Given the description of an element on the screen output the (x, y) to click on. 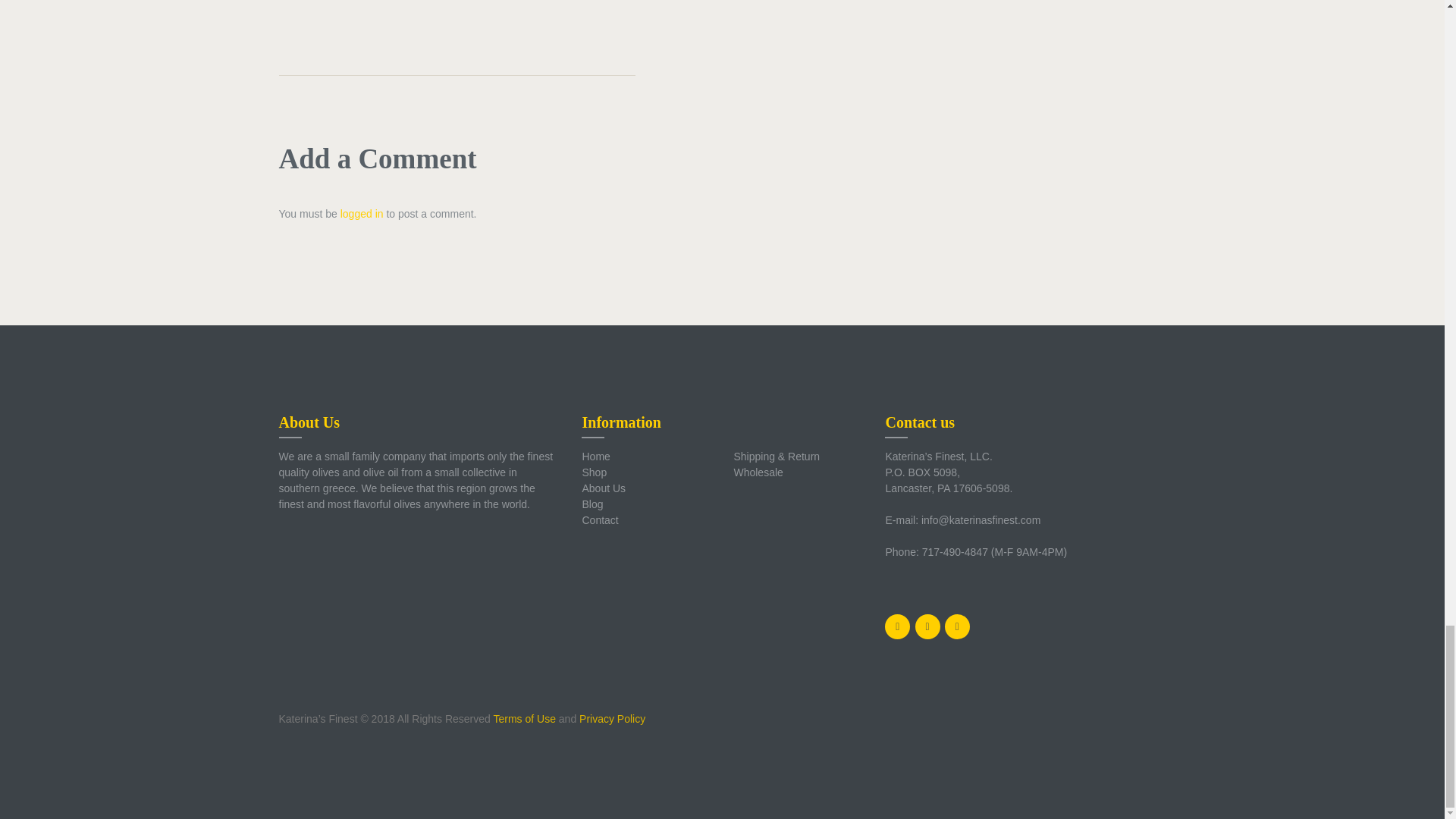
Mediterranean Diet Ranked Best Diet for 7th Year in a Row (519, 5)
logged in (362, 214)
